Given the description of an element on the screen output the (x, y) to click on. 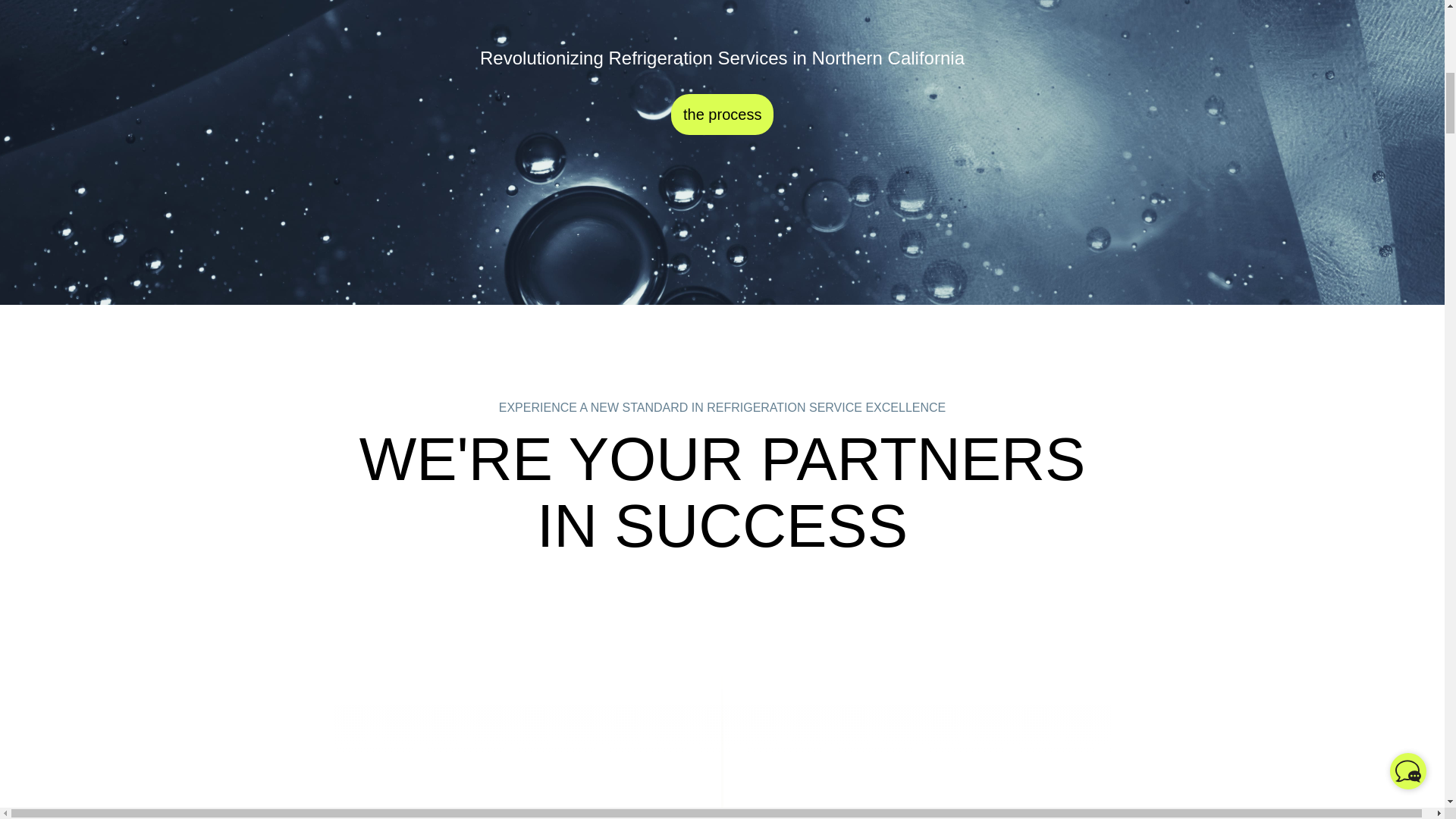
the process (722, 114)
